Given the description of an element on the screen output the (x, y) to click on. 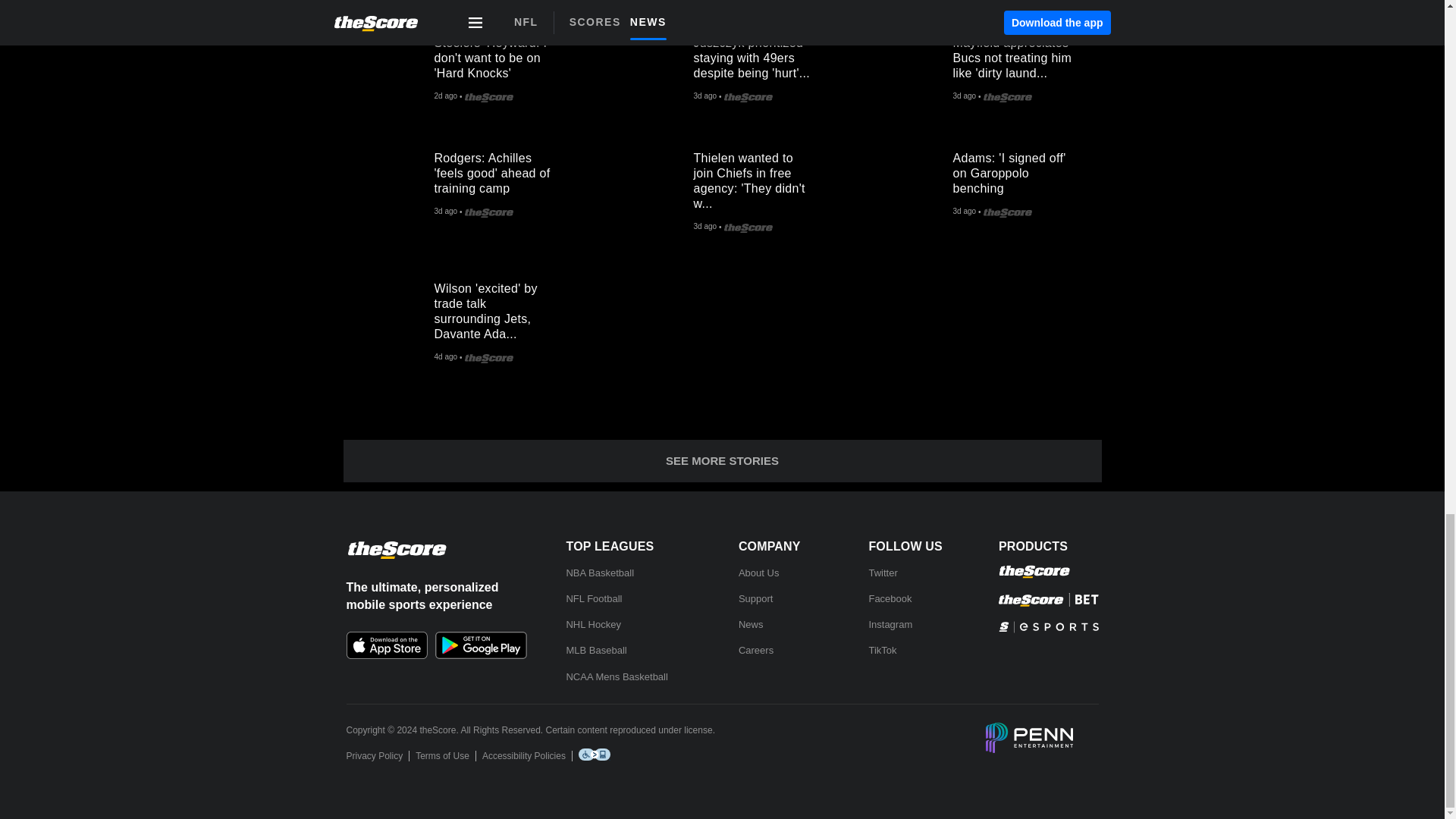
Steelers' Heyward: I don't want to be on 'Hard Knocks' (388, 69)
2024-07-13T21:48:29.000Z (704, 96)
2024-07-14T13:41:49.000Z (445, 96)
